Given the description of an element on the screen output the (x, y) to click on. 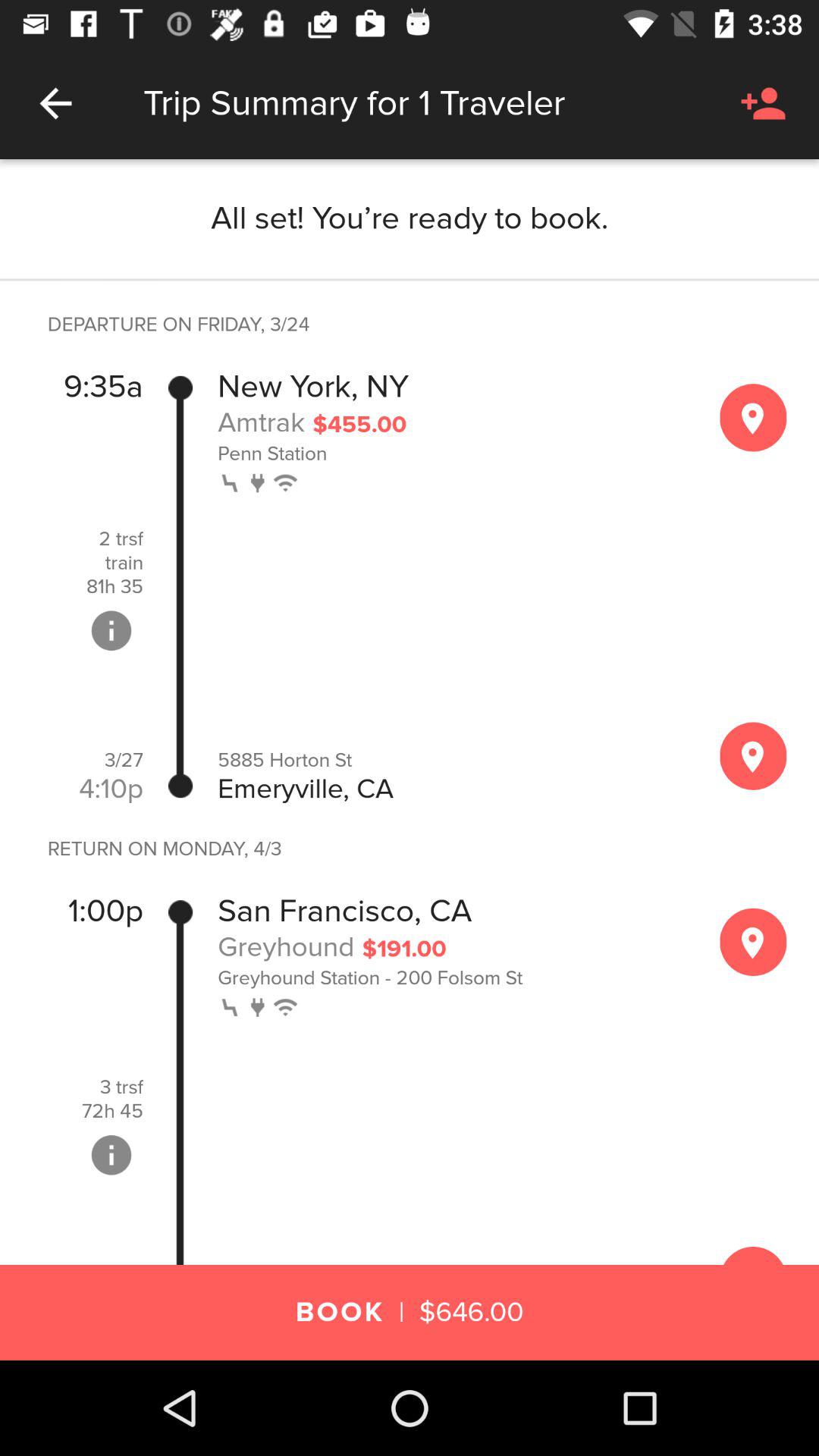
go to trip information (111, 630)
